Given the description of an element on the screen output the (x, y) to click on. 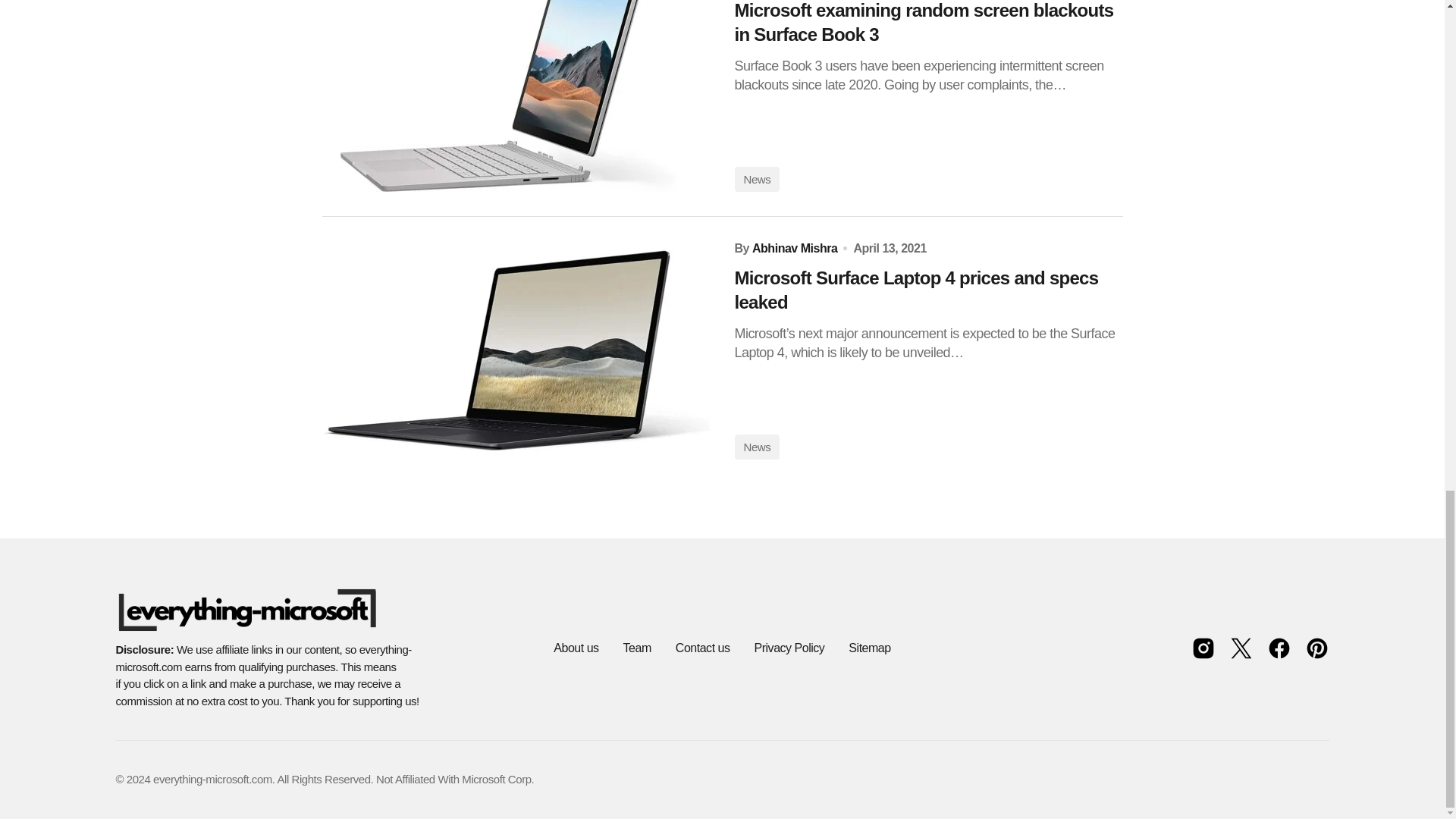
Microsoft Surface Laptop 4 prices and specs leaked 3 (515, 349)
